Given the description of an element on the screen output the (x, y) to click on. 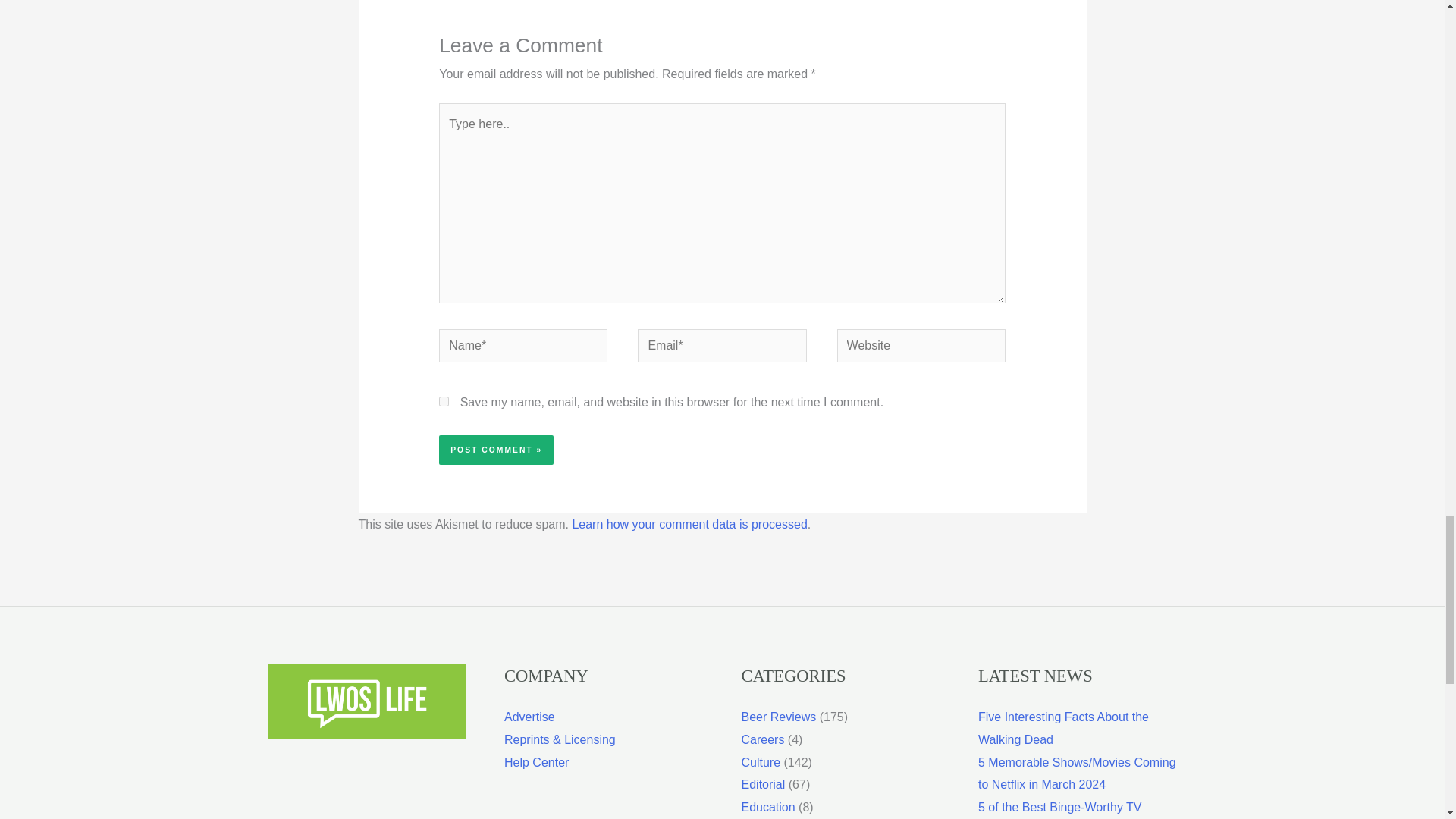
yes (443, 401)
